Given the description of an element on the screen output the (x, y) to click on. 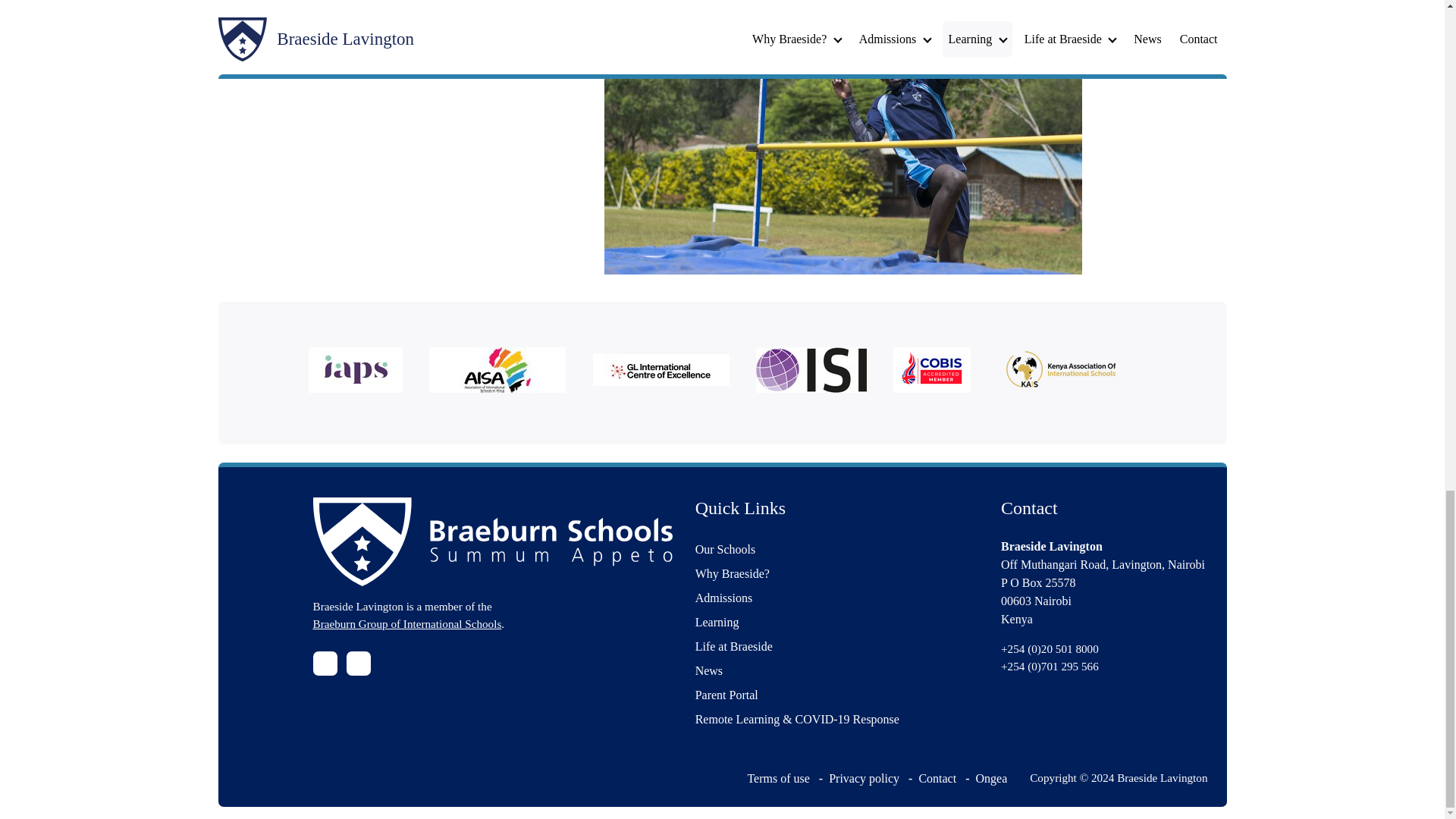
The Independent Association of Prep Schools (361, 372)
Braeburn Group of International Schools (406, 623)
GL Education Assessment Excellence (666, 372)
Why Braeside? (836, 573)
Kenyan International Schools Association (1066, 372)
Association of International Schools in Africa (503, 372)
Admissions (836, 598)
Learning (836, 622)
Our Schools (836, 549)
Independent Schools Inspectorate (817, 372)
